Given the description of an element on the screen output the (x, y) to click on. 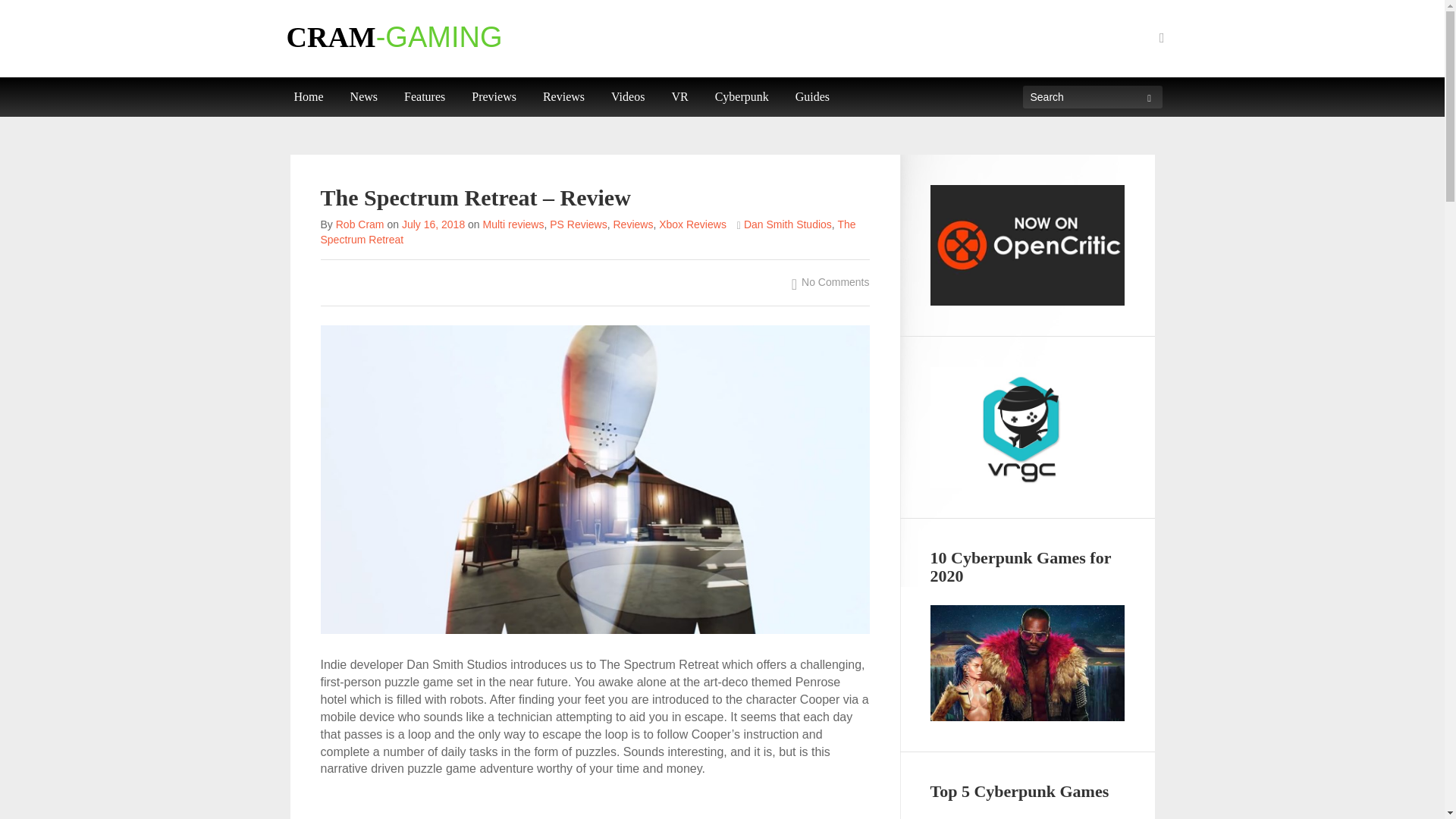
Videos (627, 96)
The Spectrum Retreat (588, 231)
No Comments (830, 280)
News (363, 96)
PS Reviews (578, 224)
Reviews (563, 96)
Cyberpunk (741, 96)
Rob Cram (360, 224)
Posts by Rob Cram (360, 224)
Home (308, 96)
